Given the description of an element on the screen output the (x, y) to click on. 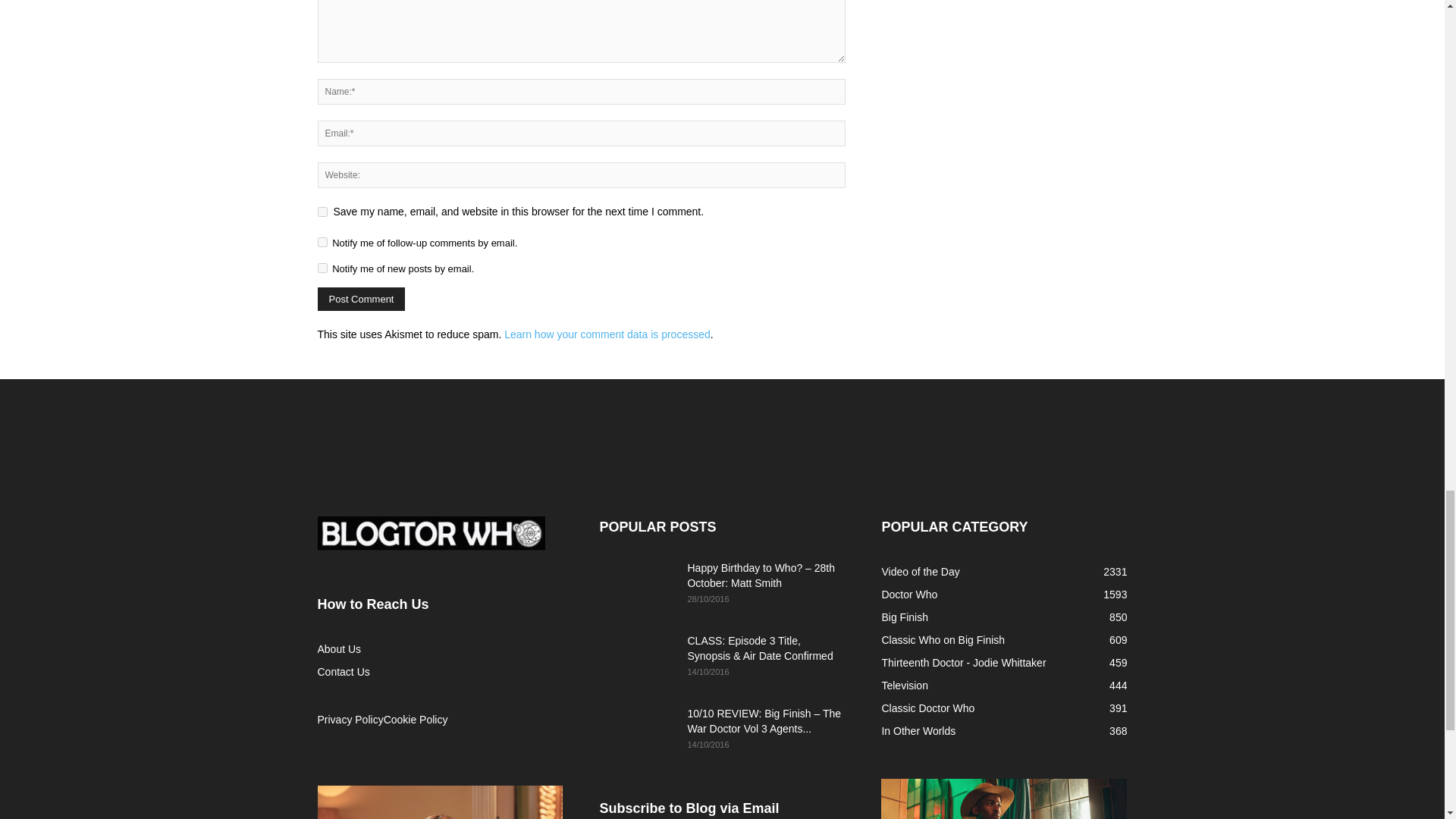
subscribe (321, 267)
Post Comment (360, 299)
subscribe (321, 242)
yes (321, 212)
